Given the description of an element on the screen output the (x, y) to click on. 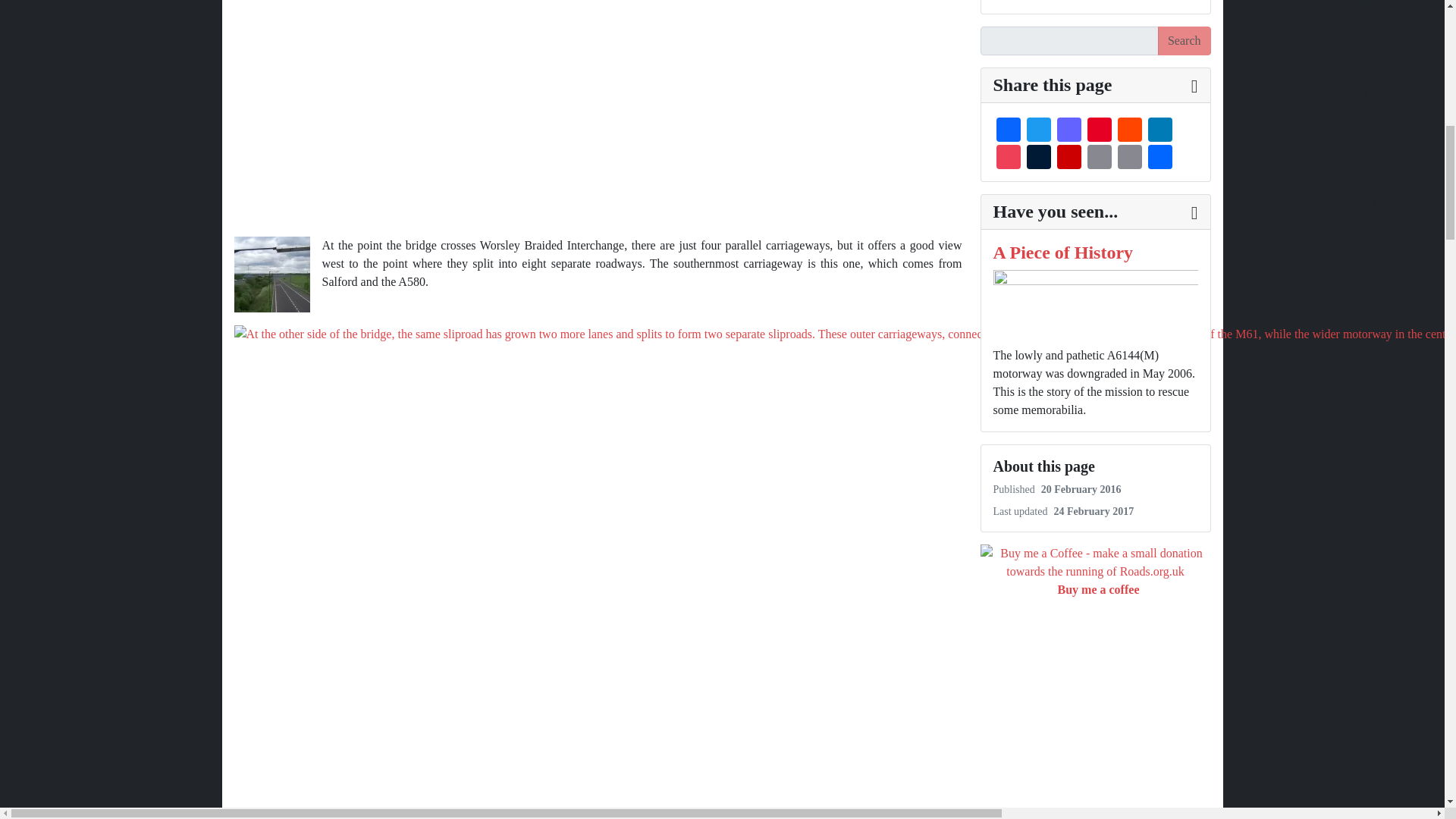
Search (1184, 40)
